Given the description of an element on the screen output the (x, y) to click on. 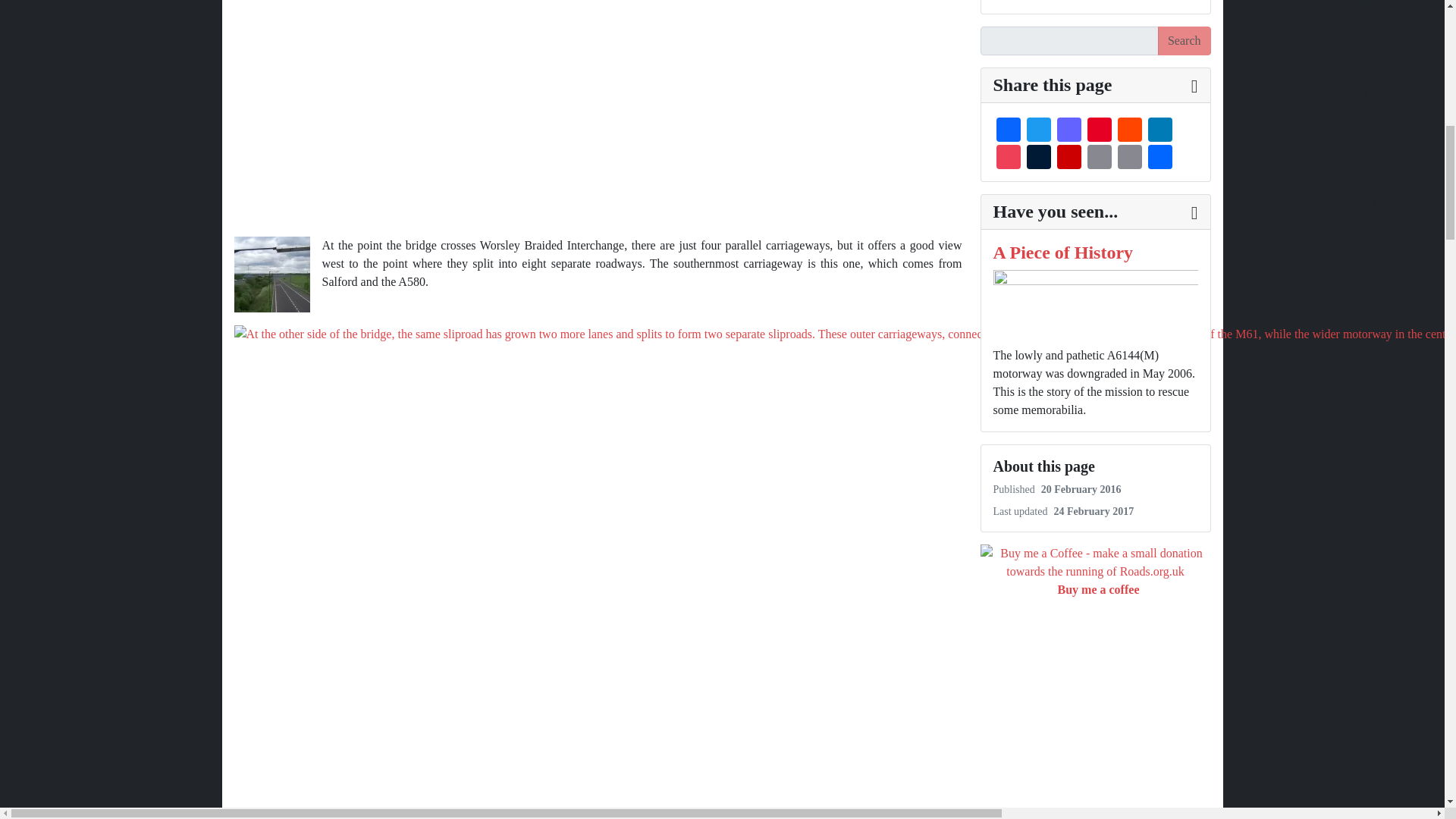
Search (1184, 40)
